Given the description of an element on the screen output the (x, y) to click on. 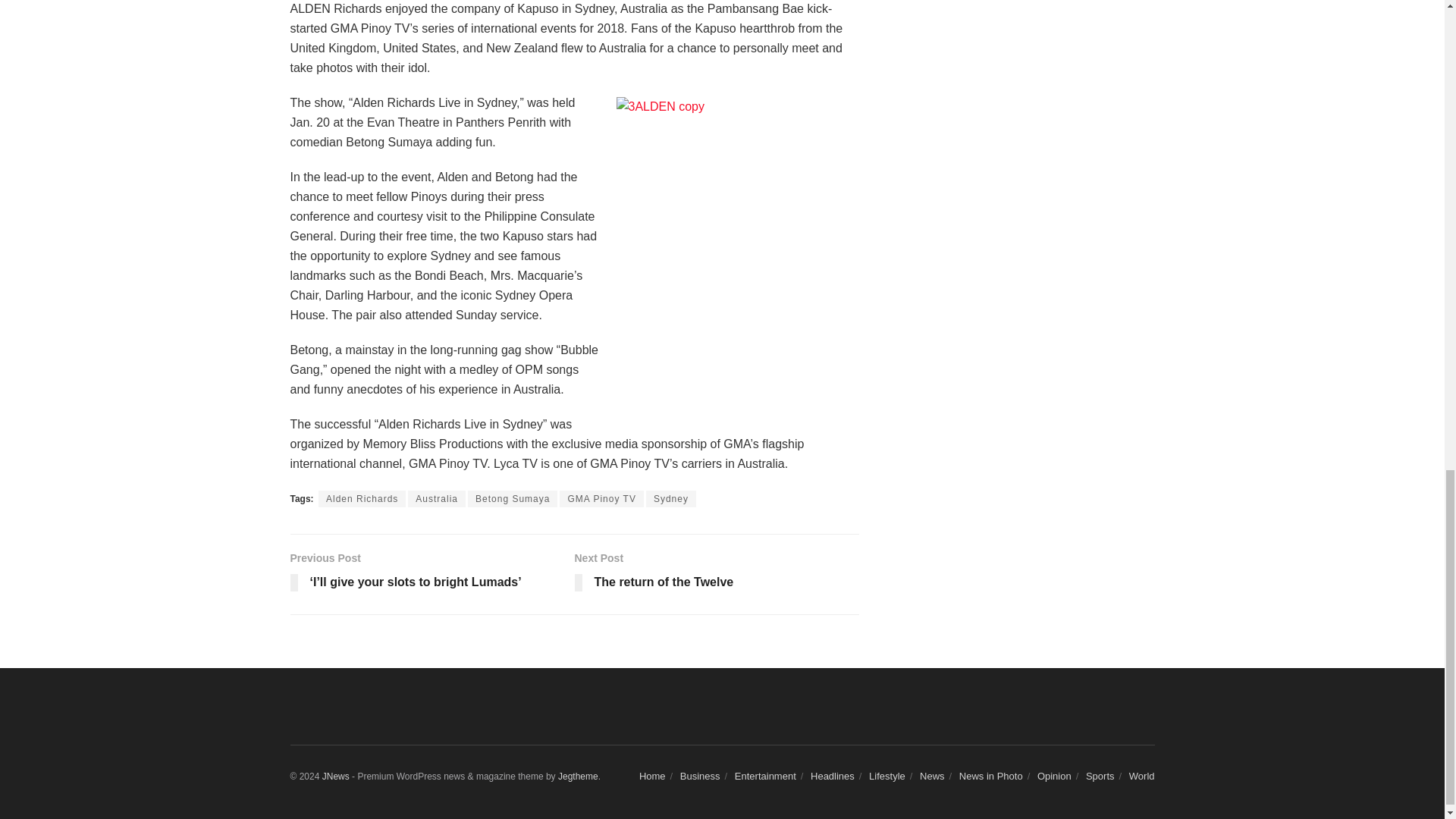
Jegtheme (577, 776)
